Given the description of an element on the screen output the (x, y) to click on. 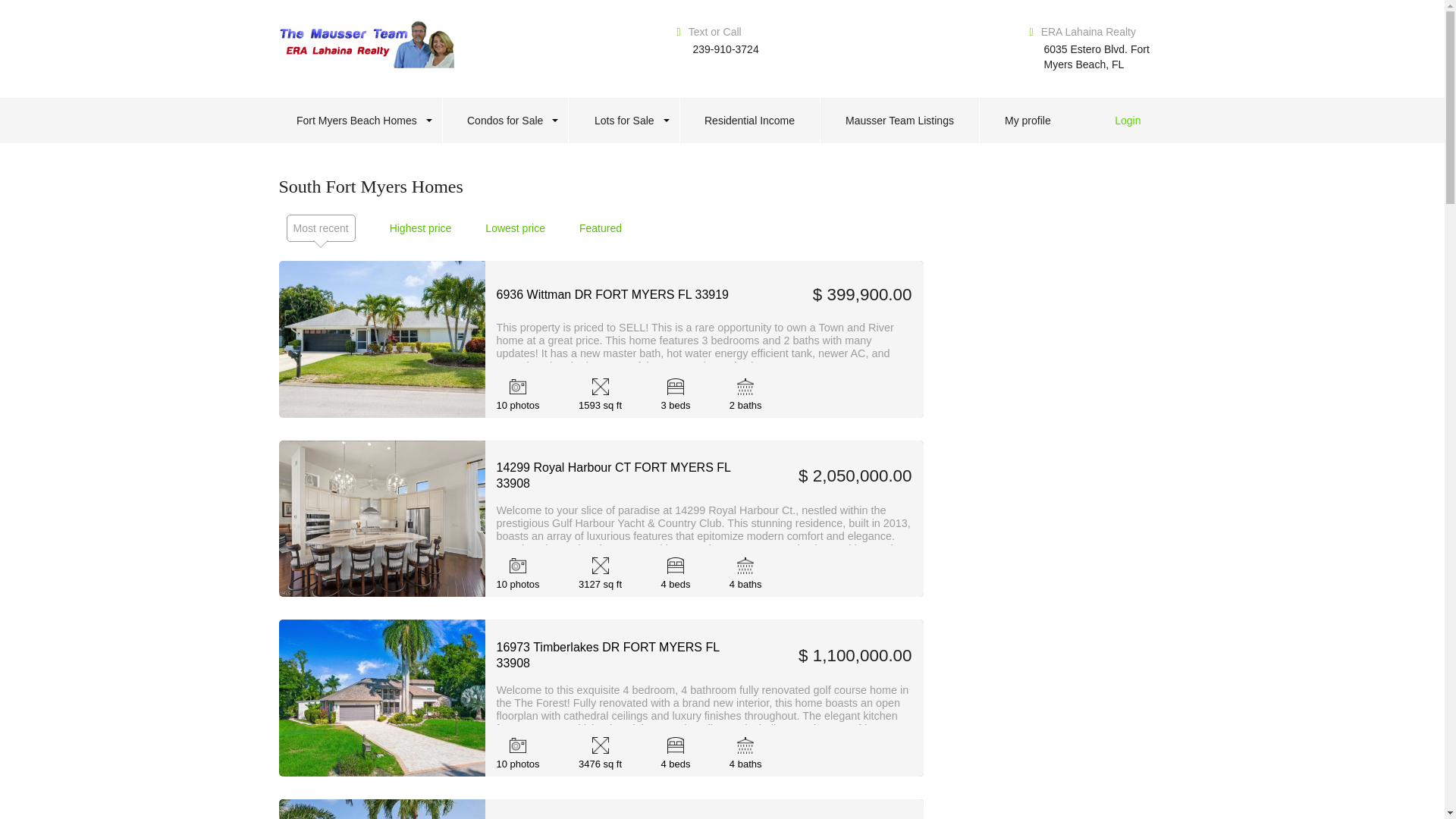
Fort Myers Beach Homes (356, 120)
Login (1136, 120)
Condos for Sale (505, 120)
Lowest price (514, 227)
Highest price (420, 227)
6936 Wittman DR FORT MYERS FL 33919 (622, 294)
Featured (600, 227)
Lots for Sale (624, 120)
Residential Income (750, 120)
Most recent (319, 227)
My profile (1027, 120)
